Given the description of an element on the screen output the (x, y) to click on. 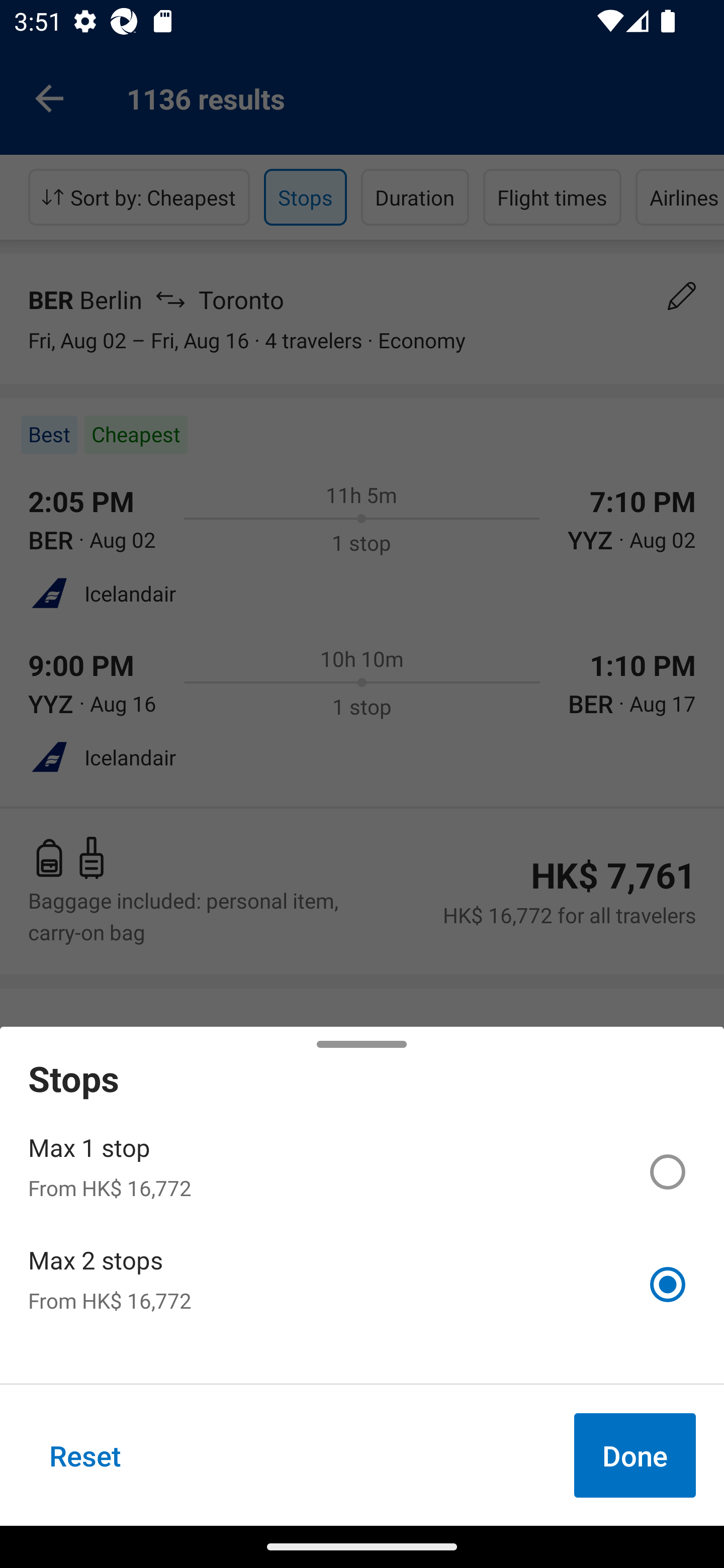
Max 1 stop From HK$ 16,772 (362, 1171)
Max 2 stops From HK$ 16,772 (362, 1283)
Reset (85, 1454)
Done (634, 1454)
